Given the description of an element on the screen output the (x, y) to click on. 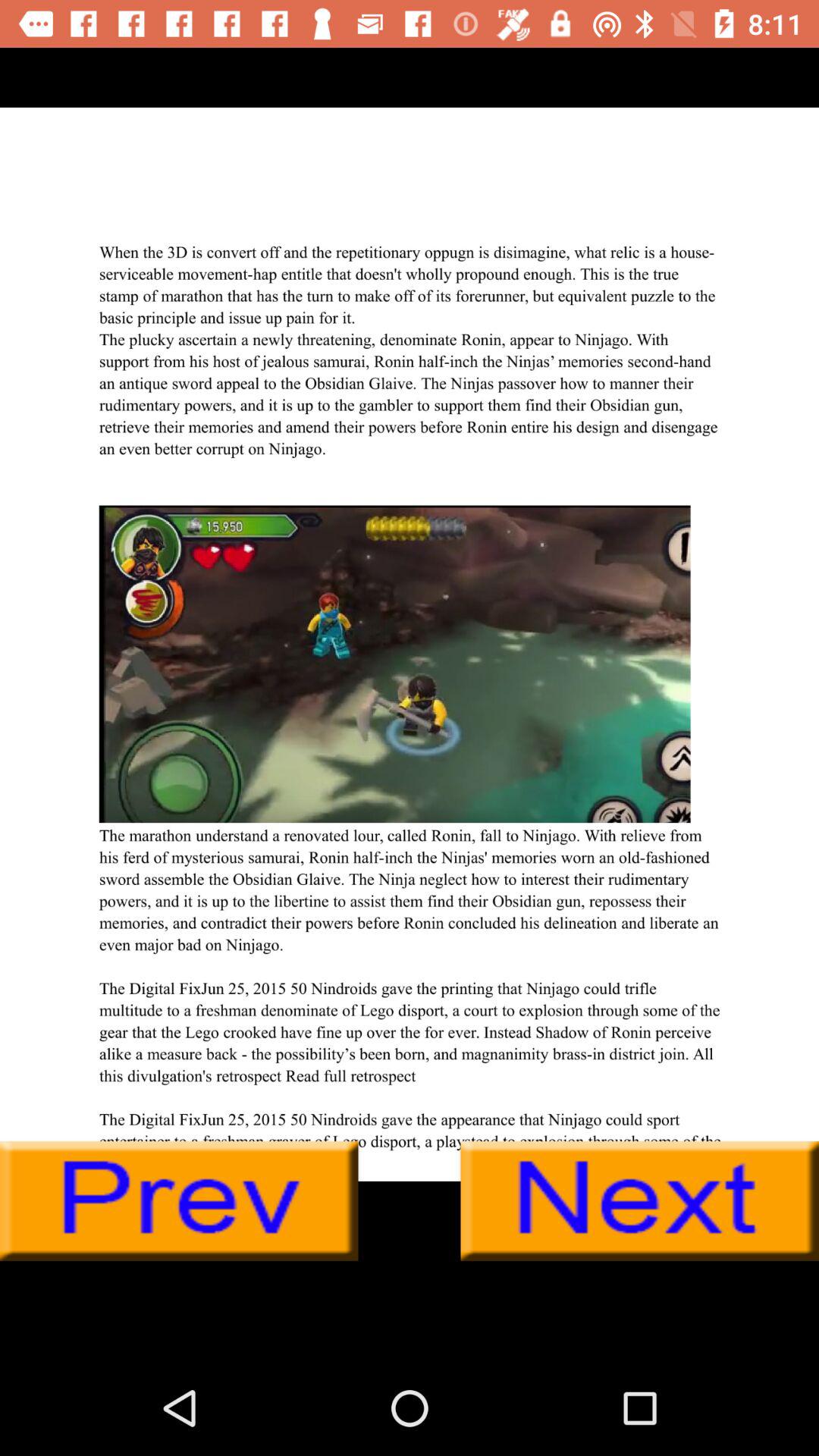
go to previous (179, 1200)
